Given the description of an element on the screen output the (x, y) to click on. 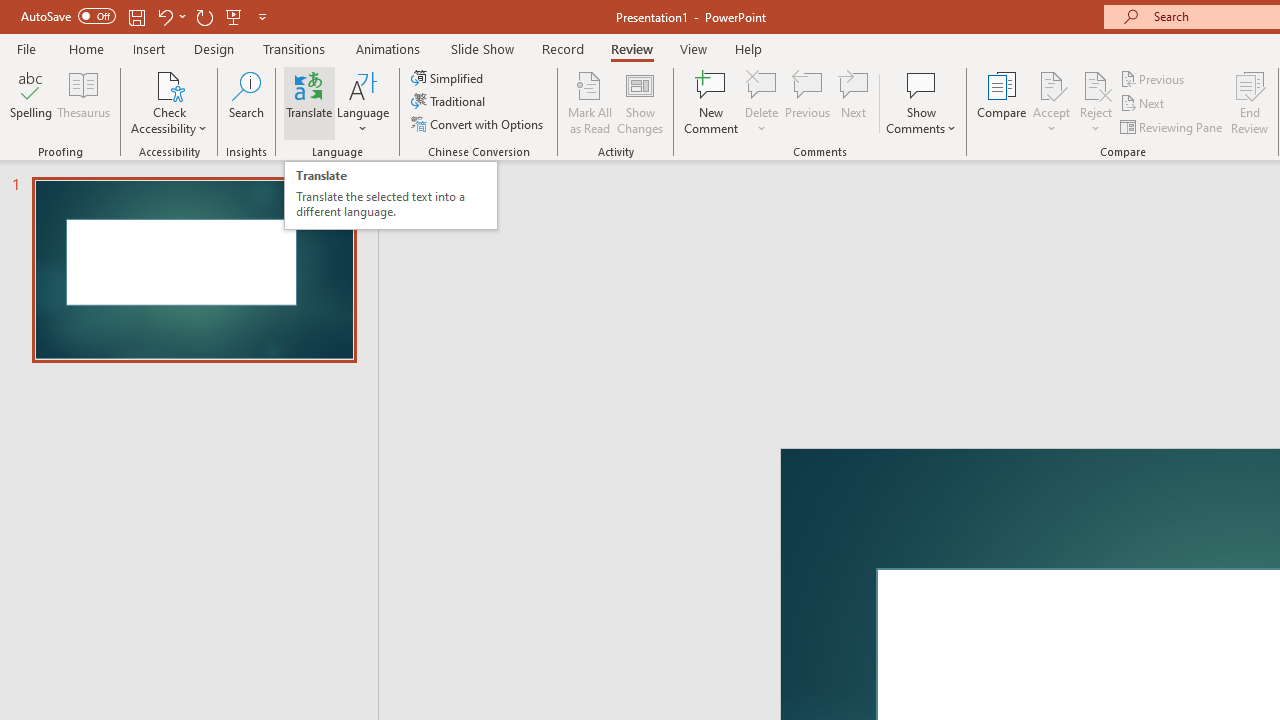
Show Comments (921, 84)
Reject (1096, 102)
Show Comments (921, 102)
Translate (309, 102)
Language (363, 102)
Simplified (449, 78)
